Given the description of an element on the screen output the (x, y) to click on. 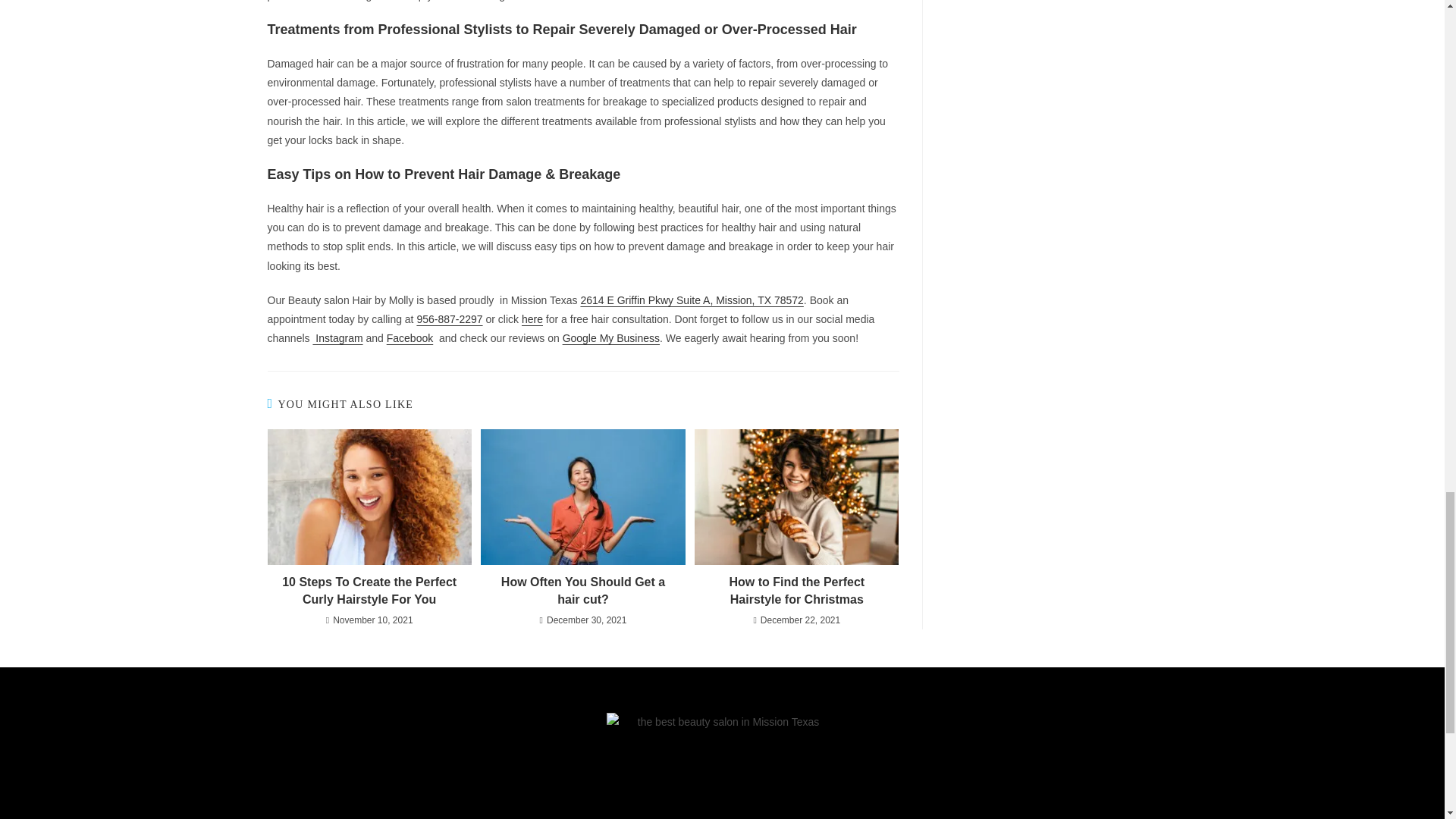
Google My Business (610, 337)
How to Find the Perfect Hairstyle for Christmas 4 (796, 497)
956-887-2297 (448, 318)
2614 E Griffin Pkwy Suite A, Mission, TX 78572 (691, 300)
 Instagram (337, 337)
10 Steps To Create the Perfect Curly Hairstyle For You 2 (368, 497)
How to Find the Perfect Hairstyle for Christmas (796, 591)
here (532, 318)
10 Steps To Create the Perfect Curly Hairstyle For You (368, 591)
How Often You Should Get a hair cut? 3 (582, 497)
Facebook (409, 337)
How Often You Should Get a hair cut? (582, 591)
